Given the description of an element on the screen output the (x, y) to click on. 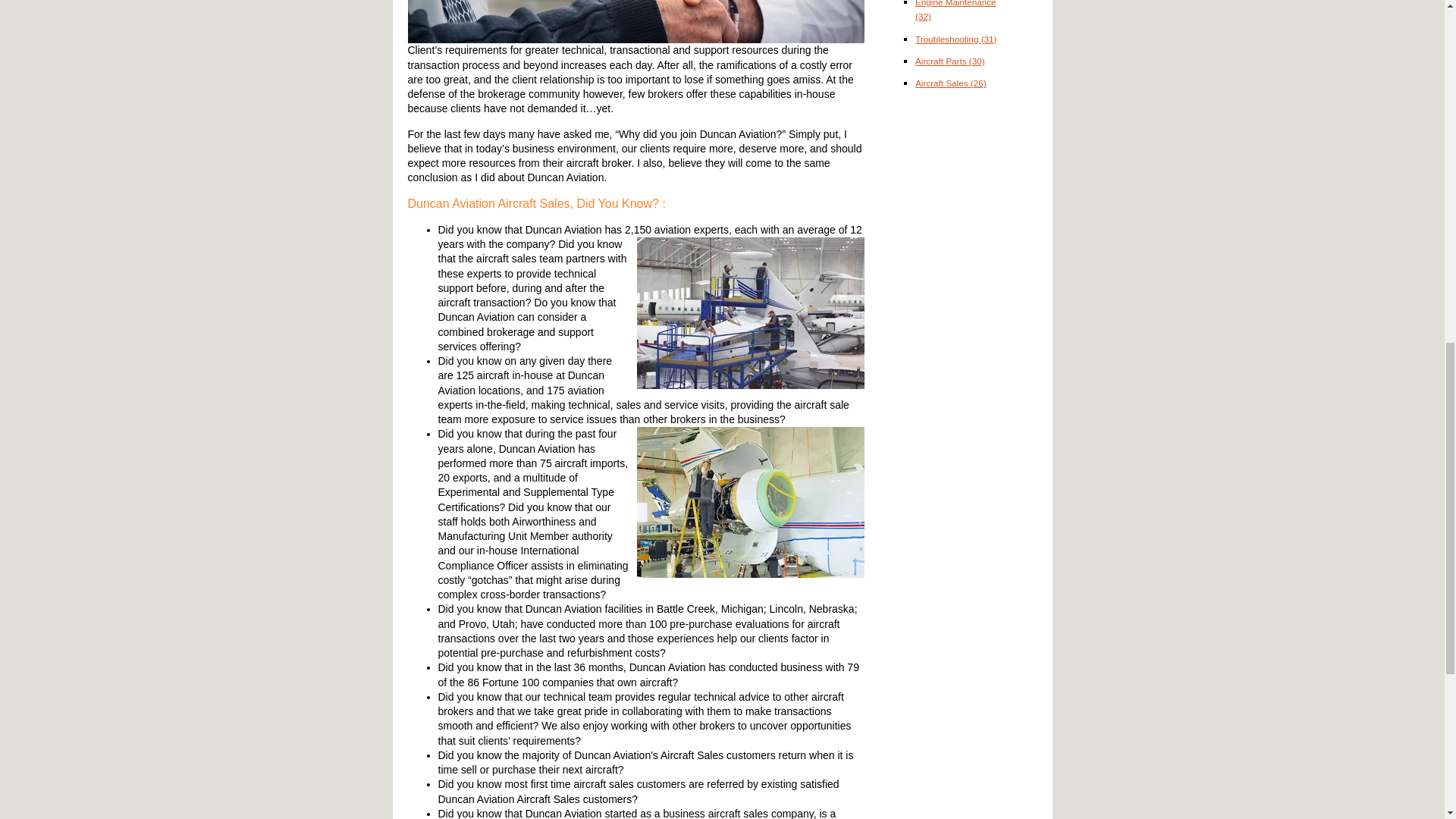
Global engine BTL.jpg (750, 502)
Falcon-Docking-stand-BTL.jpg (750, 313)
